Given the description of an element on the screen output the (x, y) to click on. 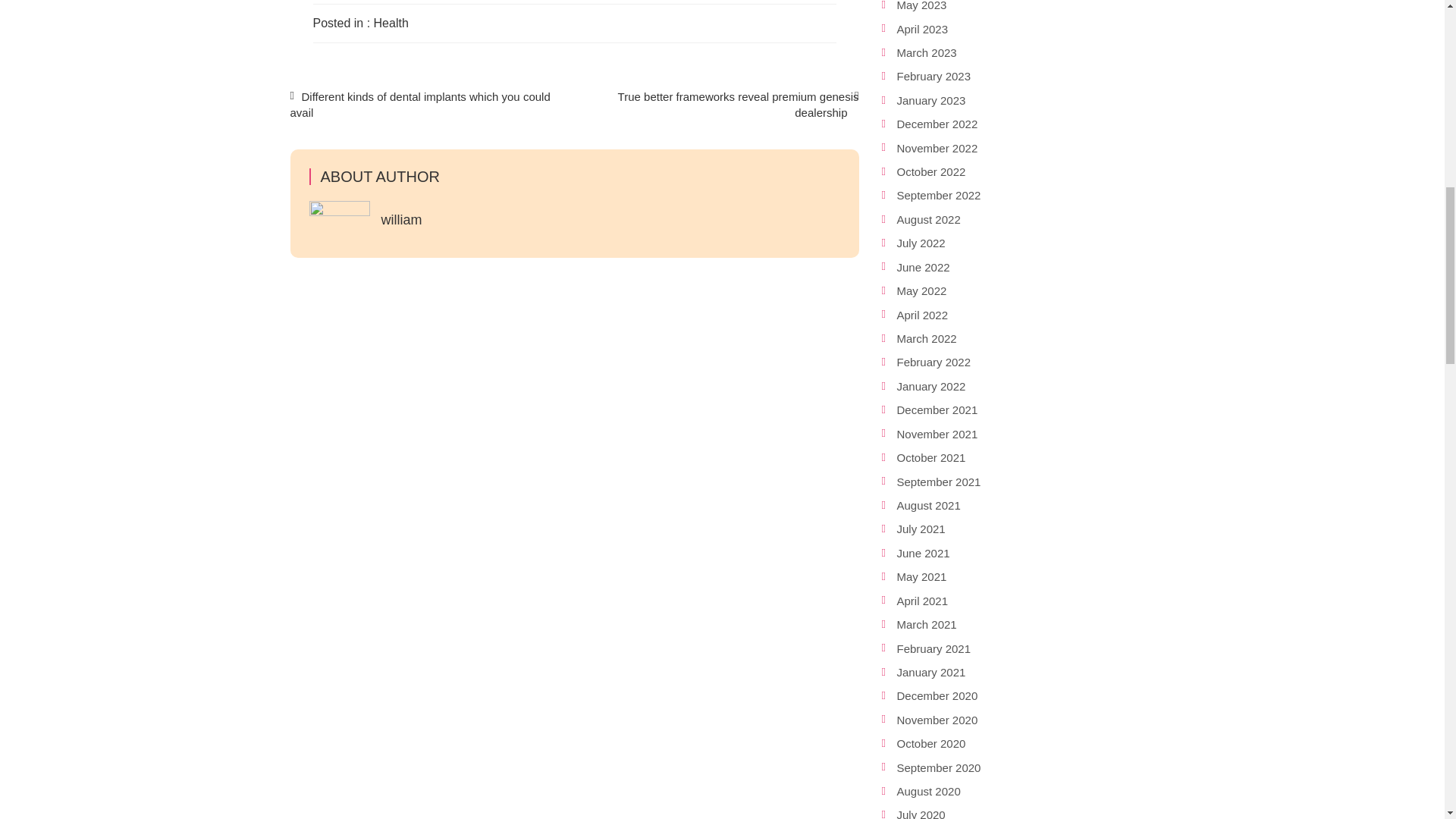
True better frameworks reveal premium genesis dealership (738, 104)
Health (391, 22)
william (401, 219)
Different kinds of dental implants which you could avail (419, 104)
